Given the description of an element on the screen output the (x, y) to click on. 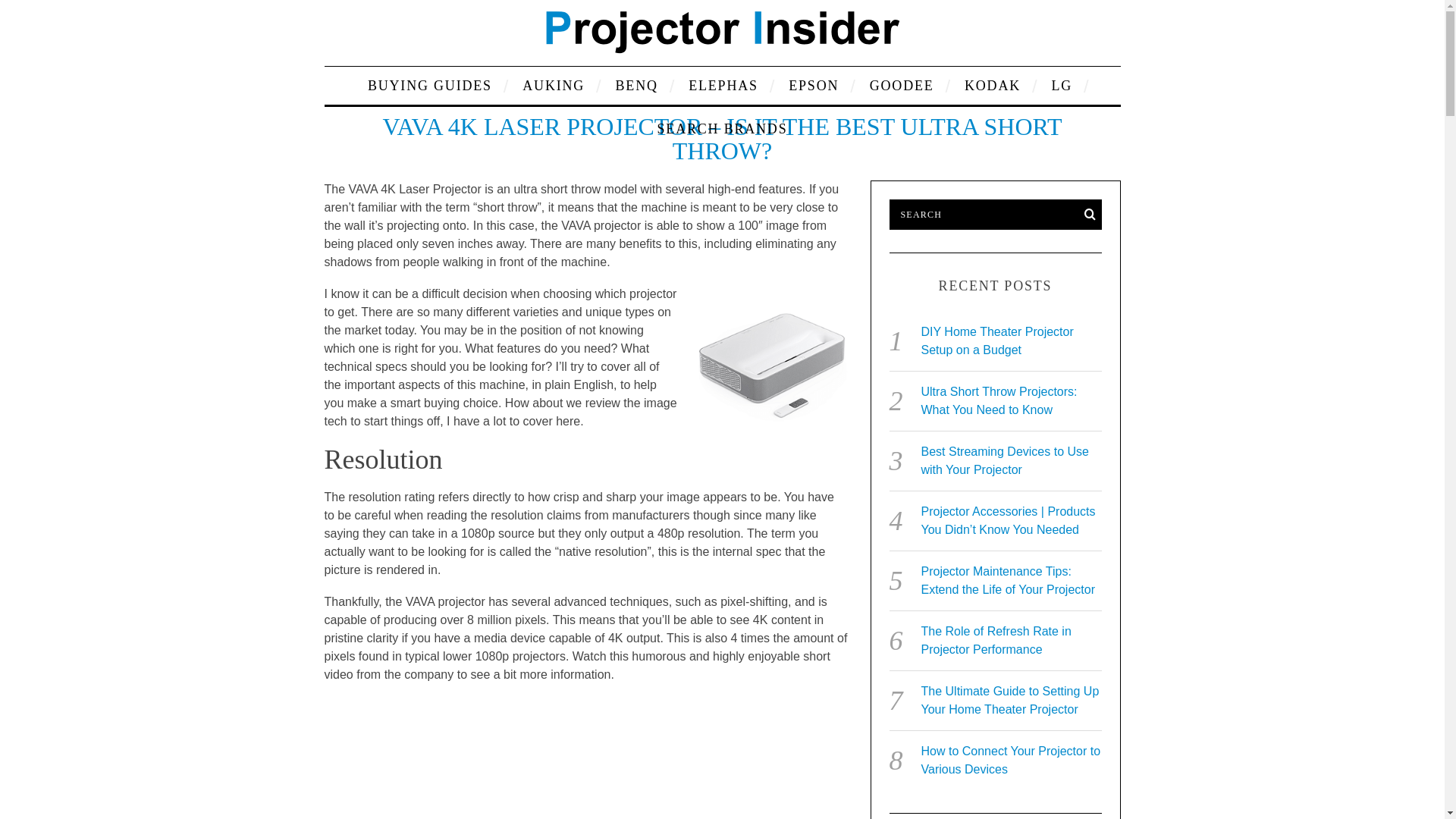
Elephas (723, 85)
Buying Guides (429, 85)
Search (994, 214)
BenQ (636, 85)
BENQ (636, 85)
GooDee (901, 85)
LG (1061, 85)
AUKING (553, 85)
BUYING GUIDES (429, 85)
LG (1061, 85)
Kodak (992, 85)
Auking (553, 85)
Epson (813, 85)
KODAK (992, 85)
ELEPHAS (723, 85)
